Given the description of an element on the screen output the (x, y) to click on. 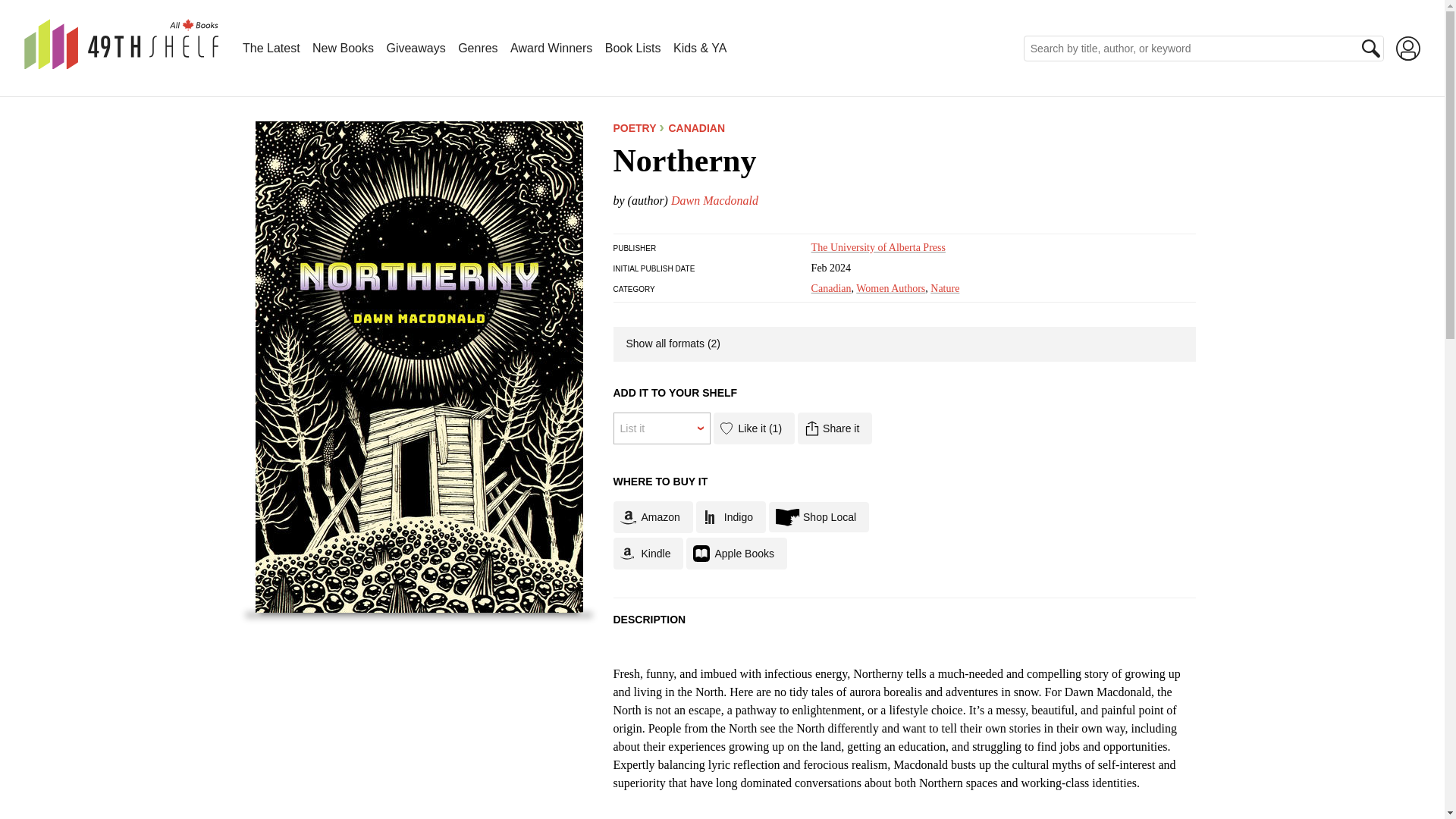
Genres (477, 48)
Search (1370, 48)
Book Lists (633, 48)
Apple Books (736, 553)
49th Shelf: All Canadian Books (121, 60)
49th Shelf: All Canadian Books (121, 43)
Giveaways (415, 48)
Amazon (652, 517)
View more Nature books (944, 288)
View more Dawn Macdonald books (714, 200)
Buy at Indigo (730, 517)
Dawn Macdonald (714, 200)
View more Poetry books (634, 128)
Indigo (730, 517)
Search (1370, 48)
